Given the description of an element on the screen output the (x, y) to click on. 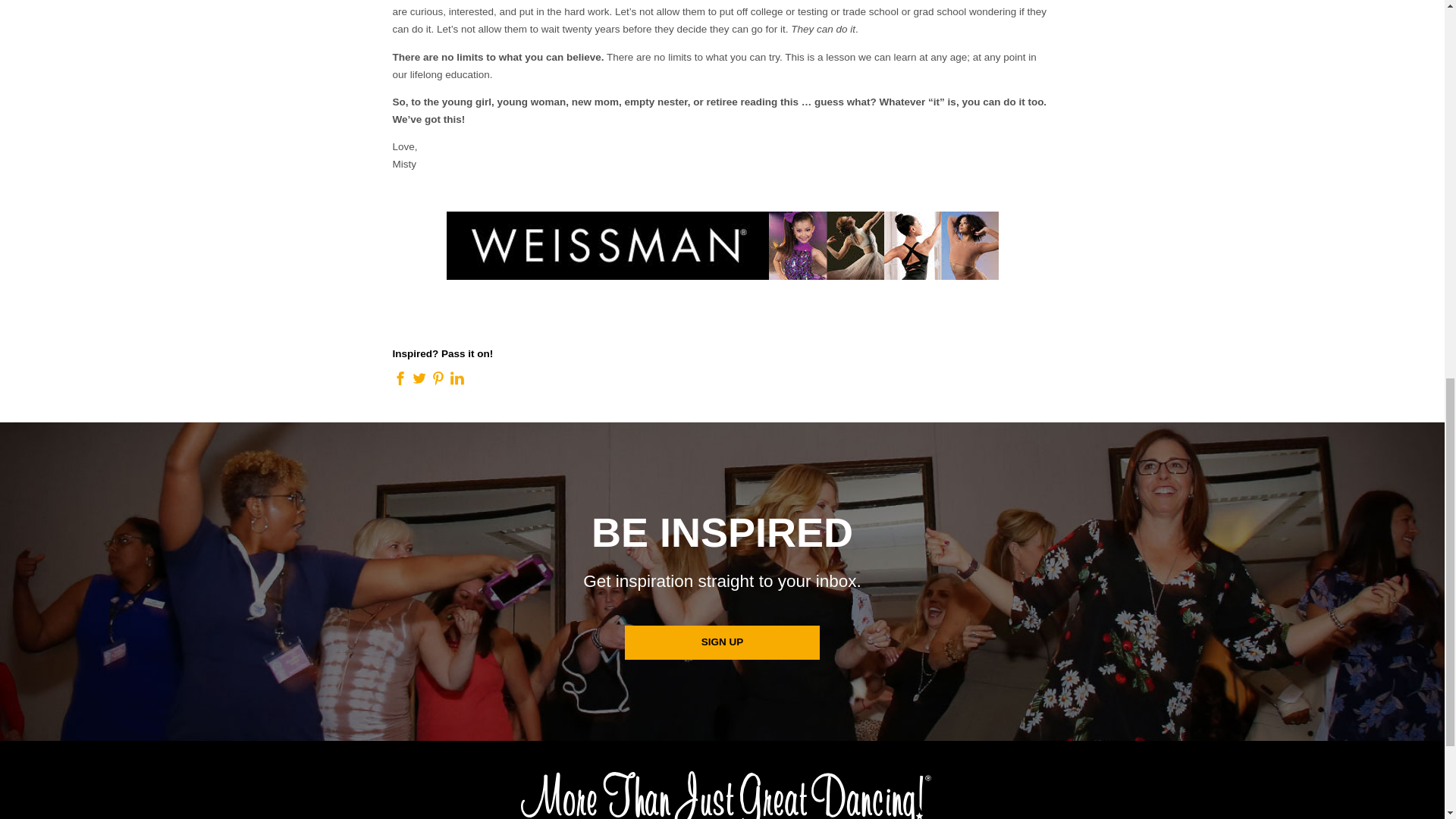
SIGN UP (722, 642)
